Given the description of an element on the screen output the (x, y) to click on. 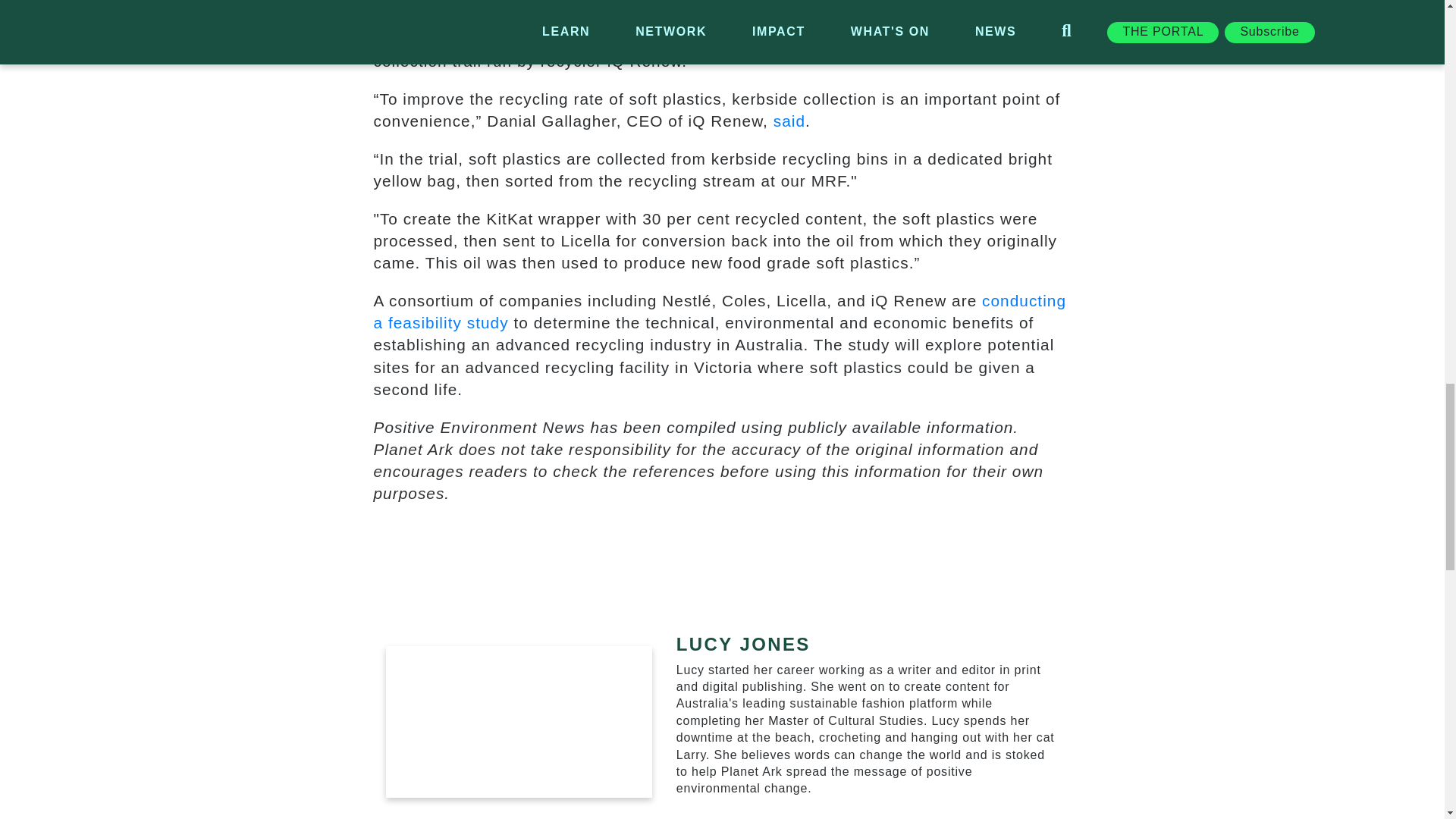
said (789, 120)
conducting a feasibility study (718, 311)
